Given the description of an element on the screen output the (x, y) to click on. 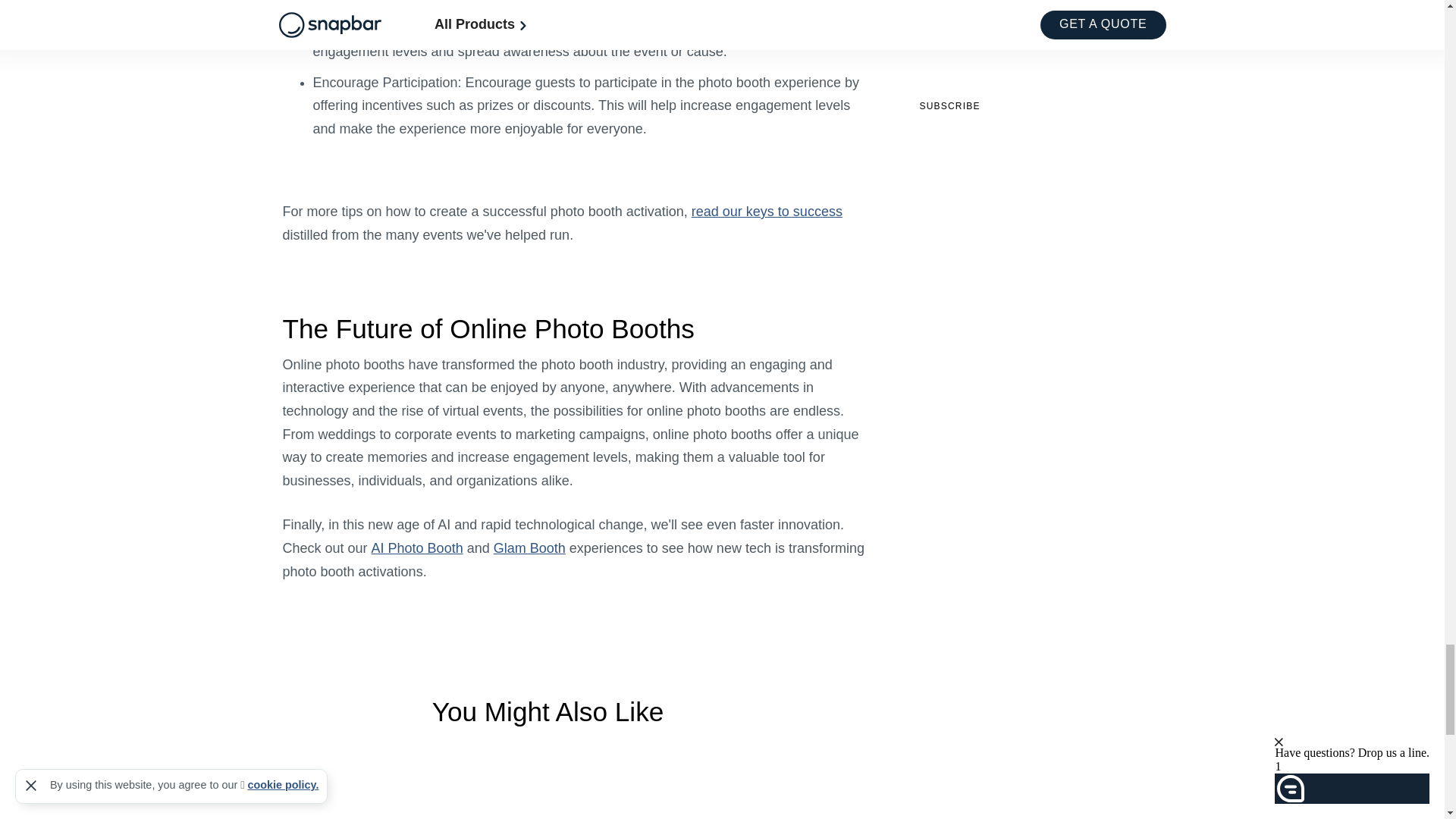
read our keys to success (767, 211)
AI Photo Booth (417, 548)
Glam Booth (529, 548)
